Given the description of an element on the screen output the (x, y) to click on. 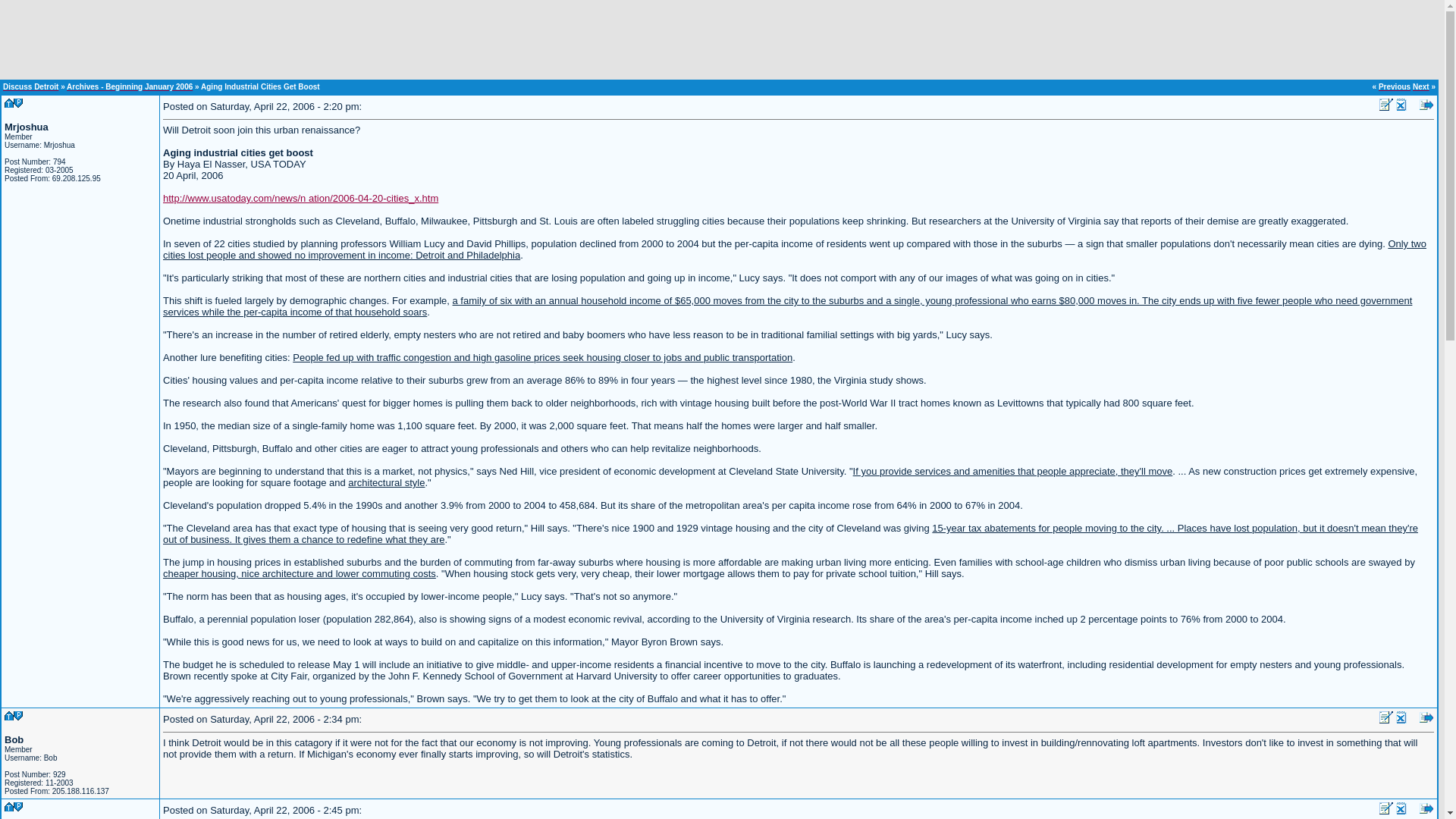
Discuss Detroit (30, 86)
Previous (1394, 86)
Next (1420, 86)
Archives - Beginning January 2006 (129, 86)
